Given the description of an element on the screen output the (x, y) to click on. 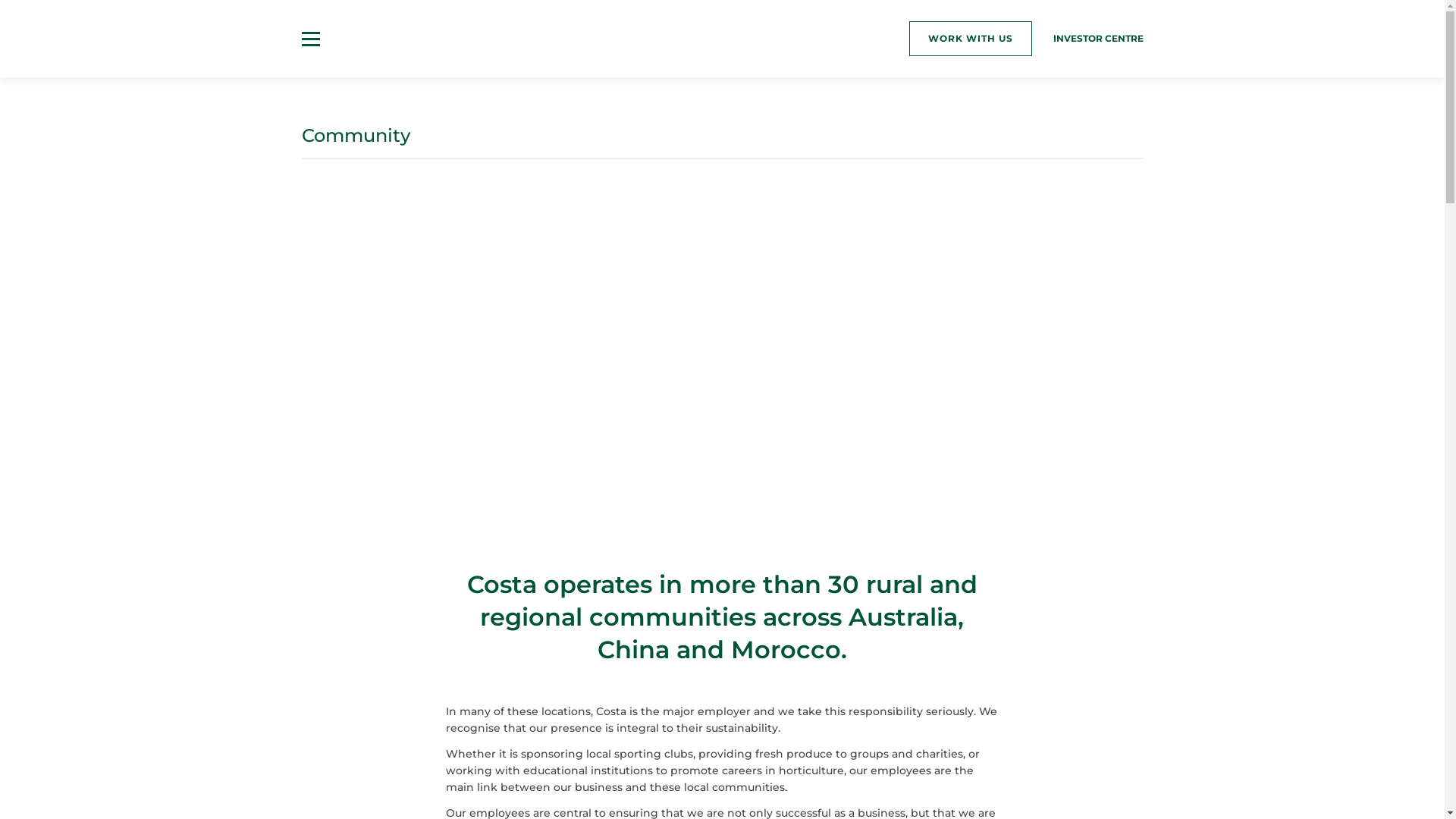
WORK WITH US Element type: text (969, 38)
INVESTOR CENTRE Element type: text (1097, 37)
Skip to content Element type: text (0, 0)
